Given the description of an element on the screen output the (x, y) to click on. 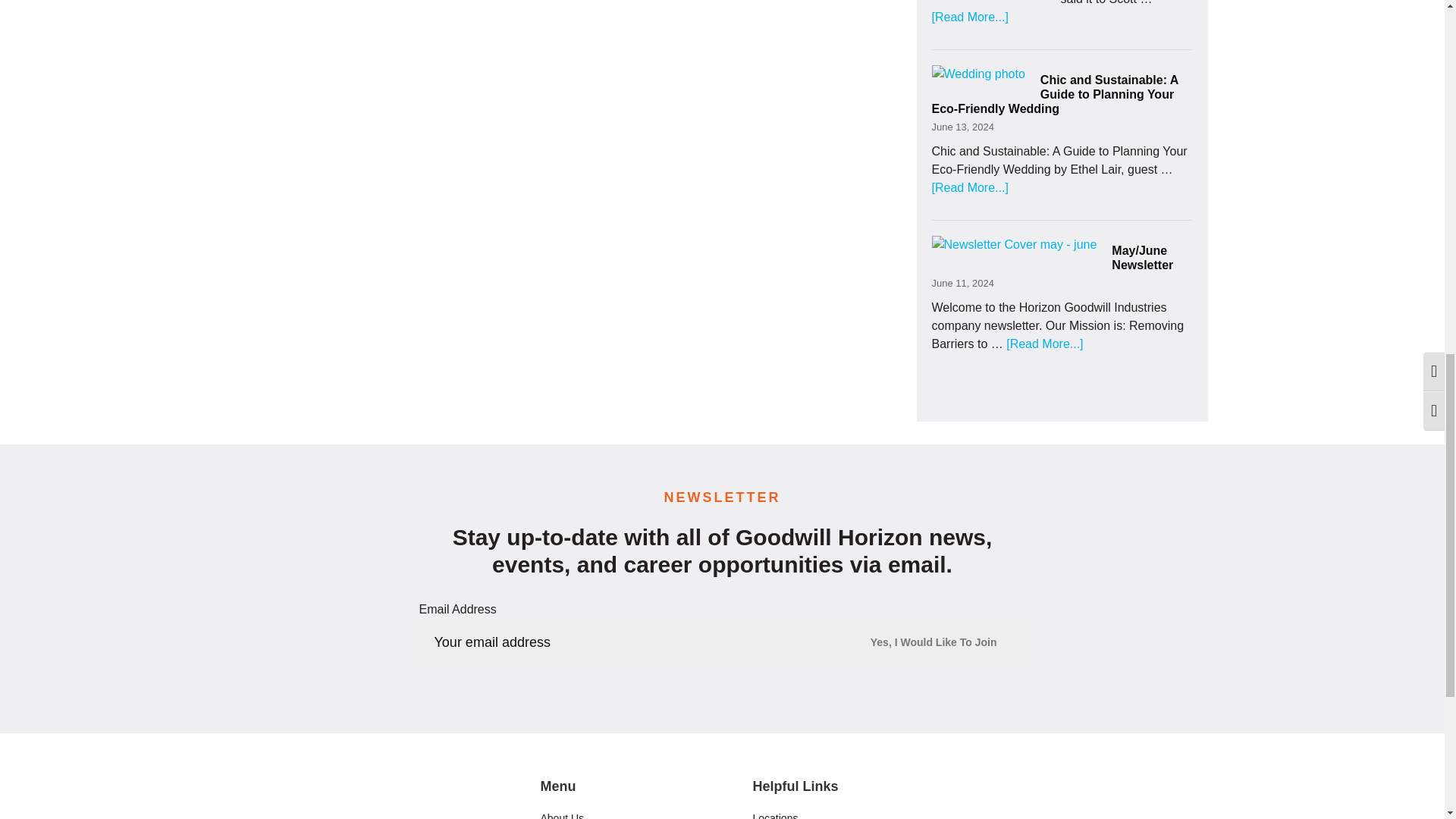
Yes, I Would Like To Join (933, 642)
